Given the description of an element on the screen output the (x, y) to click on. 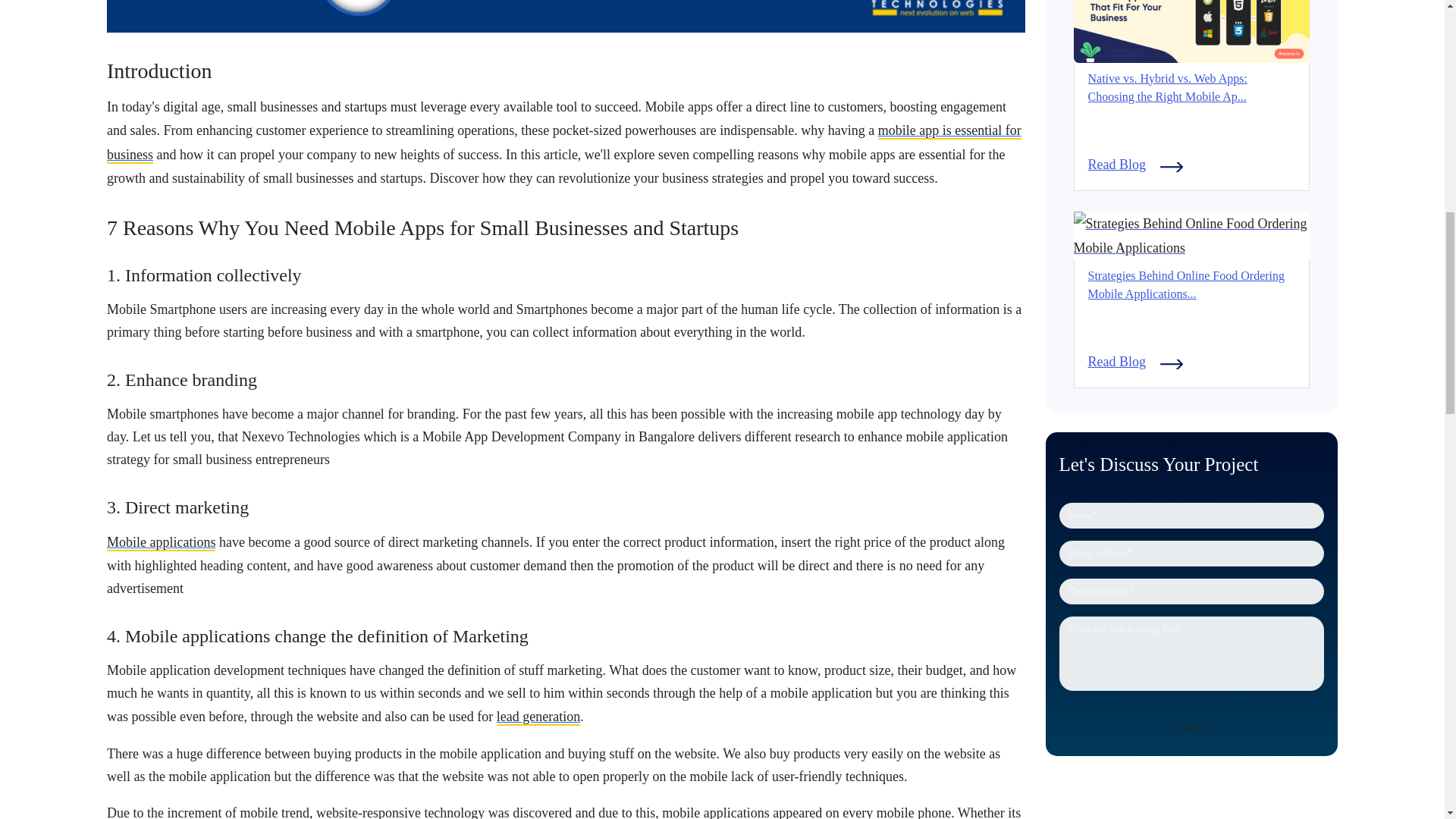
Submit (1190, 726)
